Given the description of an element on the screen output the (x, y) to click on. 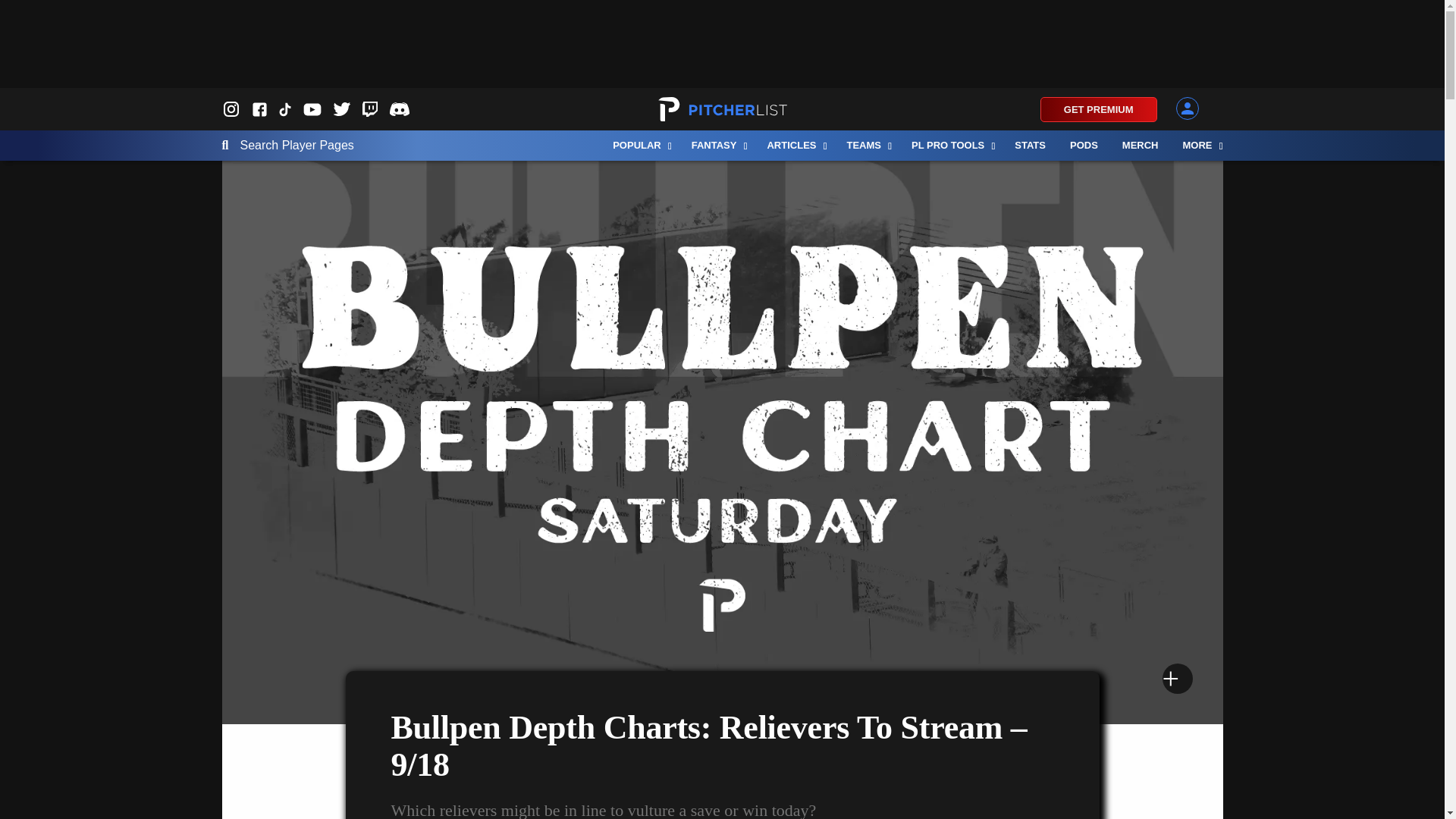
FANTASY (717, 145)
GET PREMIUM (1099, 109)
